Given the description of an element on the screen output the (x, y) to click on. 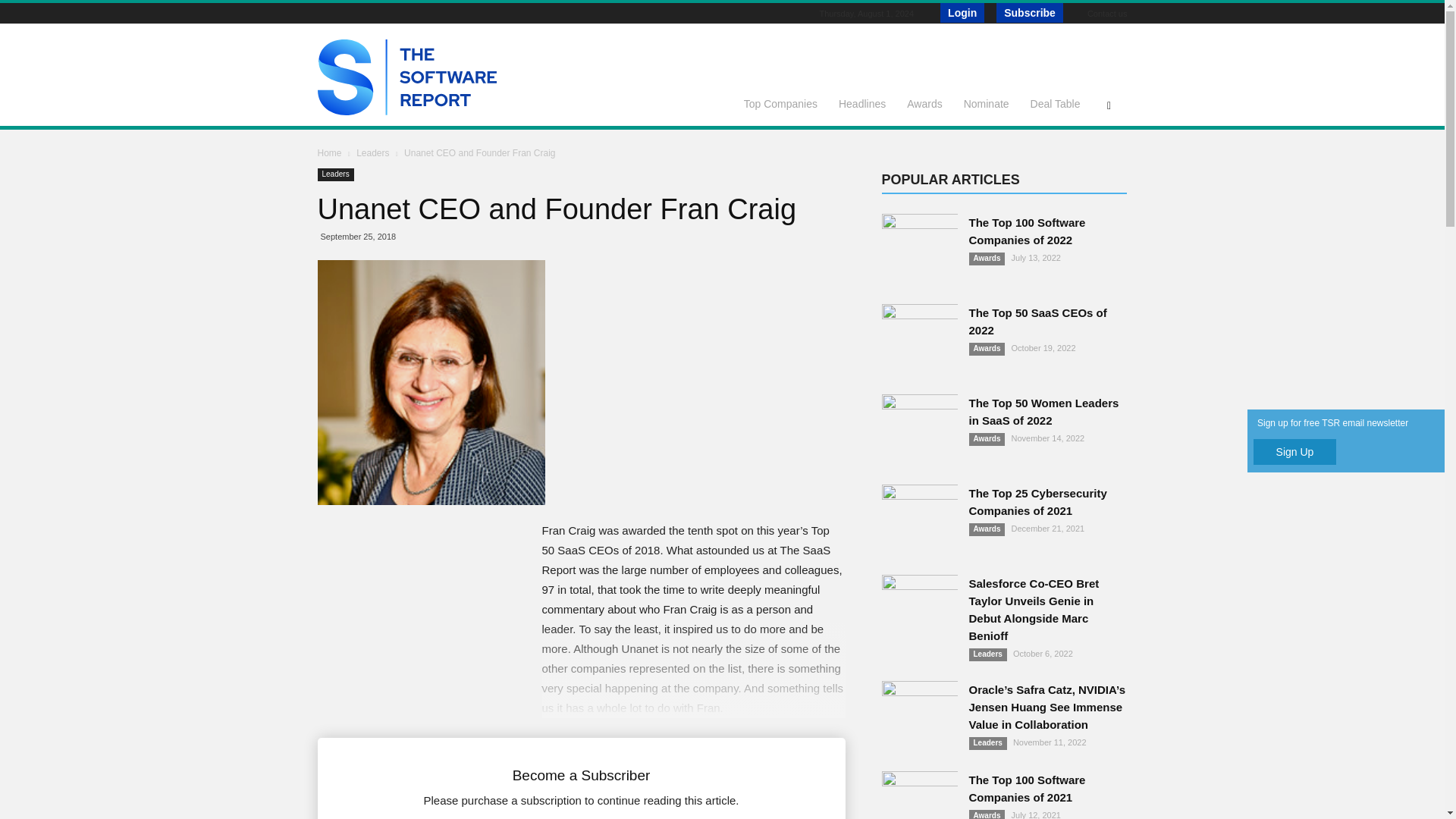
Nominate (986, 103)
Awards (924, 103)
Leaders (373, 153)
Subscribe (1028, 12)
Home (328, 153)
View all posts in Leaders (373, 153)
Deal Table (1055, 103)
The Software Report (406, 111)
Top Companies (780, 103)
Leaders (335, 174)
Sign Up (1294, 451)
Contact us (1106, 13)
Headlines (862, 103)
Login (962, 12)
